Given the description of an element on the screen output the (x, y) to click on. 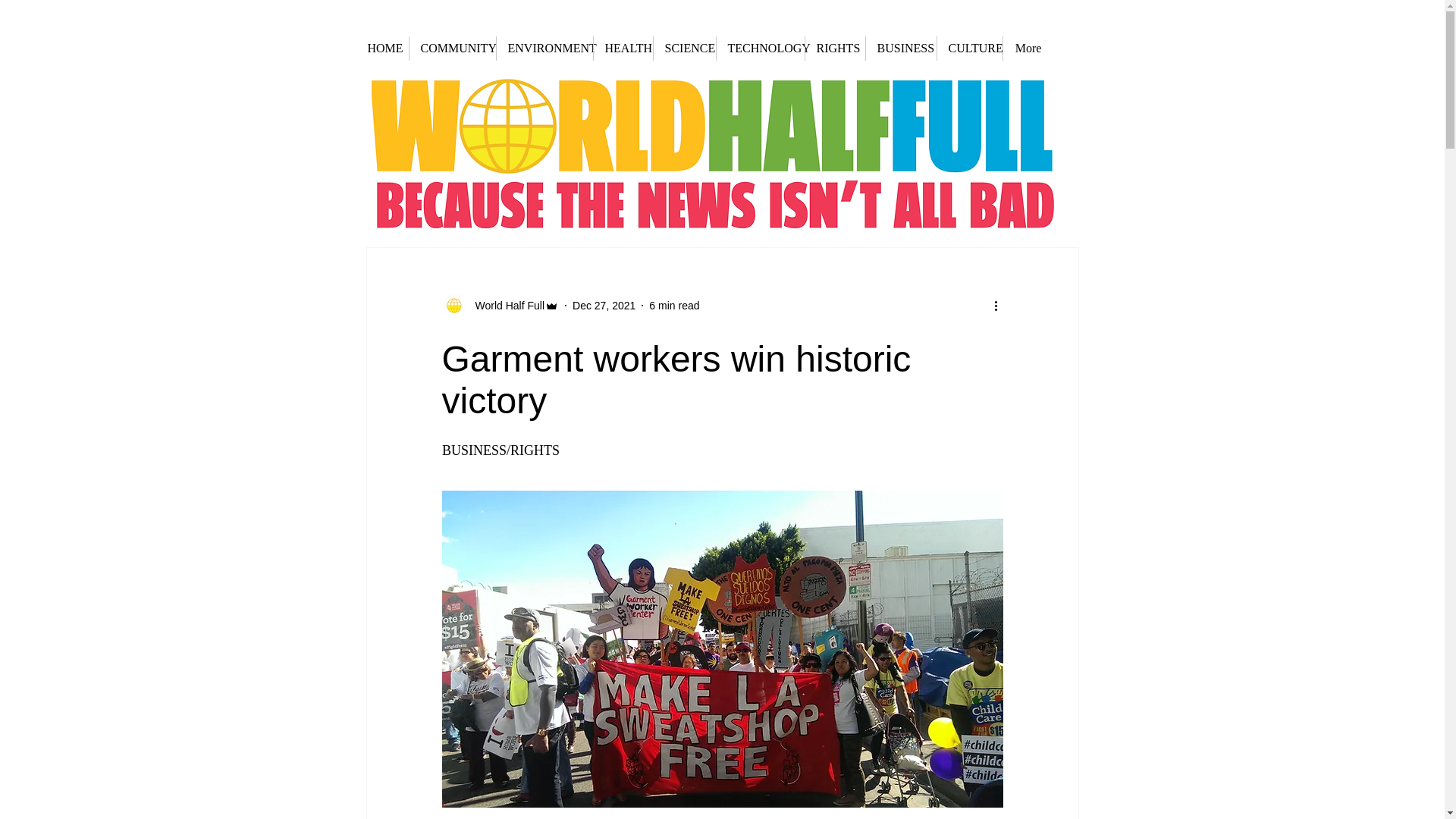
World Half Full (504, 304)
6 min read (673, 304)
SCIENCE (684, 48)
TECHNOLOGY (759, 48)
RIGHTS (834, 48)
HOME (382, 48)
HEALTH (622, 48)
COMMUNITY (452, 48)
ENVIRONMENT (544, 48)
CULTURE (970, 48)
Dec 27, 2021 (603, 304)
BUSINESS (901, 48)
